Given the description of an element on the screen output the (x, y) to click on. 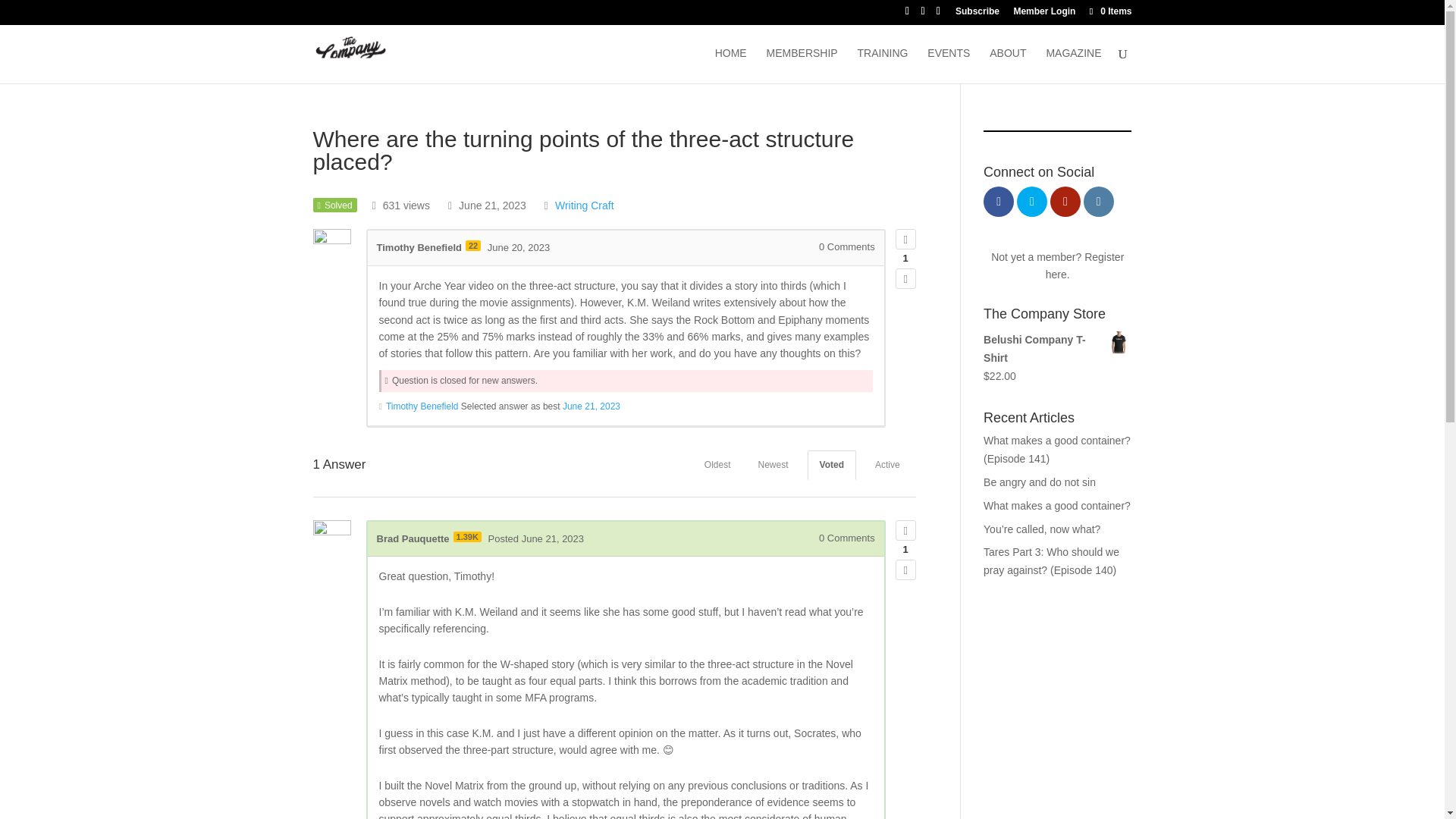
Down vote this post (905, 569)
Timothy Benefield (421, 406)
MEMBERSHIP (802, 65)
Voted (832, 464)
EVENTS (948, 65)
TRAINING (882, 65)
Down vote this post (905, 278)
Member Login (1044, 14)
June 20, 2023 (518, 247)
HOME (730, 65)
